Given the description of an element on the screen output the (x, y) to click on. 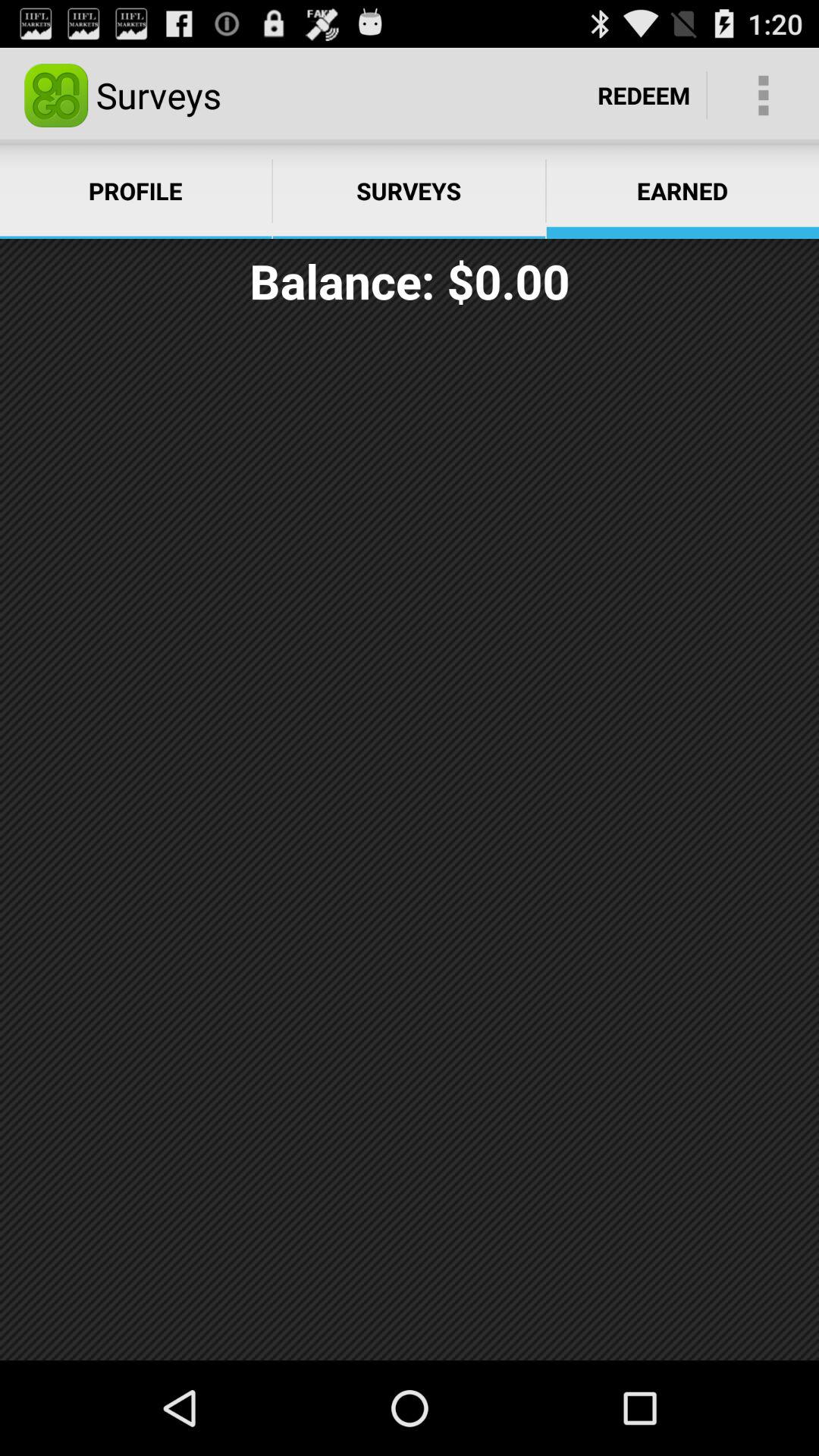
launch redeem icon (643, 95)
